Given the description of an element on the screen output the (x, y) to click on. 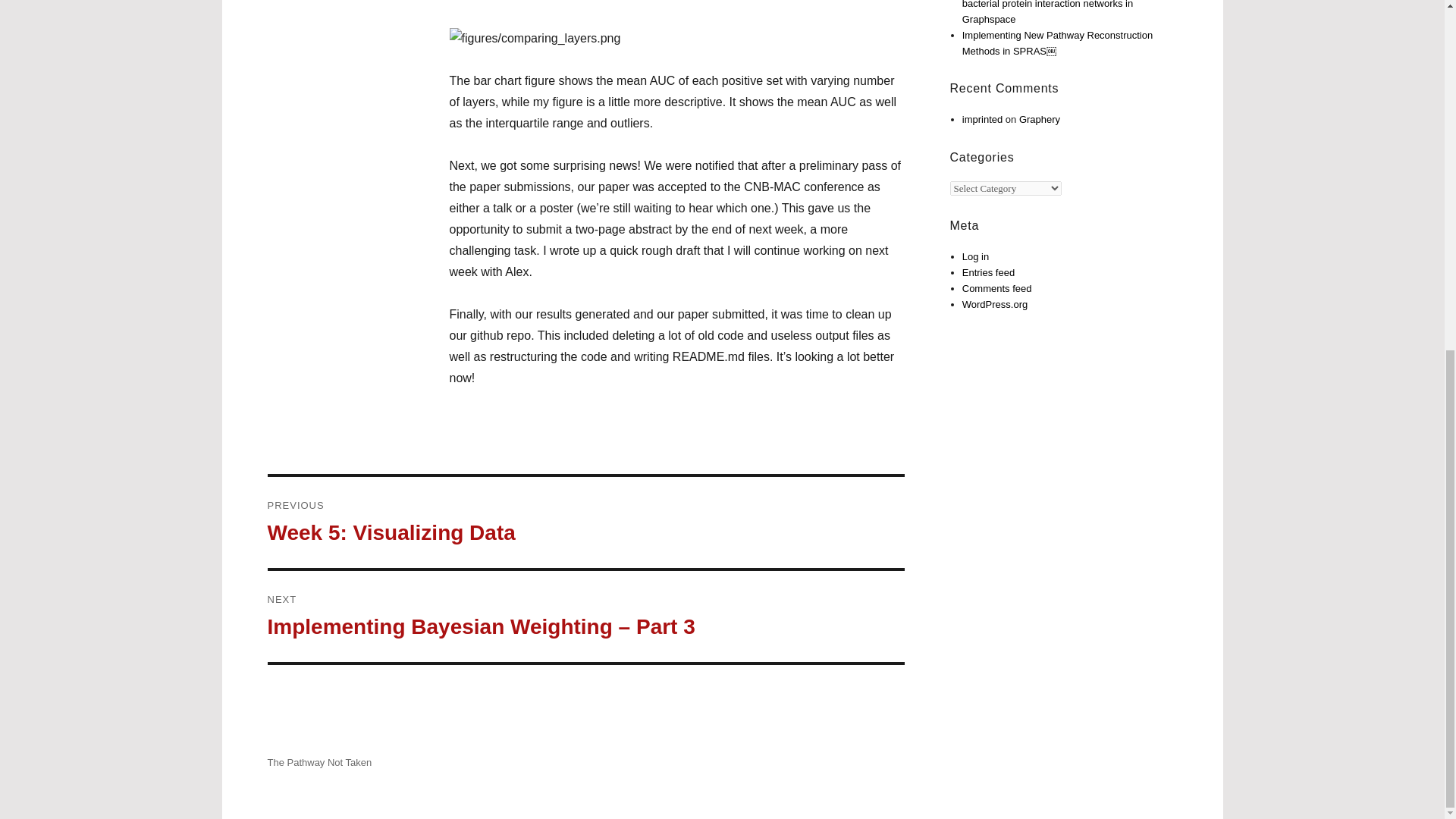
Entries feed (988, 272)
Comments feed (997, 288)
The Pathway Not Taken (318, 762)
WordPress.org (994, 304)
imprinted (982, 119)
Log in (975, 256)
Graphery (585, 522)
